Given the description of an element on the screen output the (x, y) to click on. 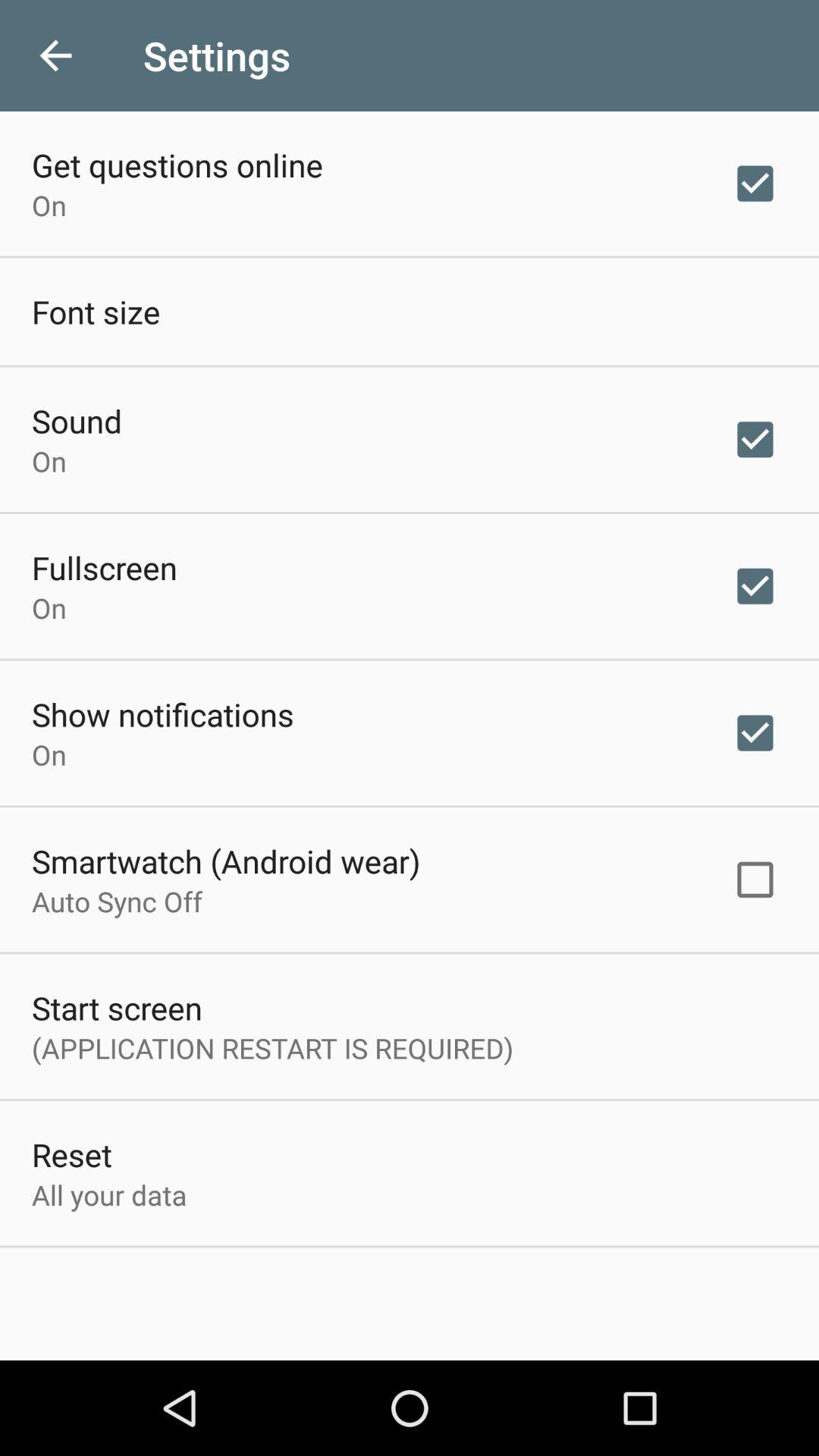
click the item to the left of the settings (55, 55)
